Given the description of an element on the screen output the (x, y) to click on. 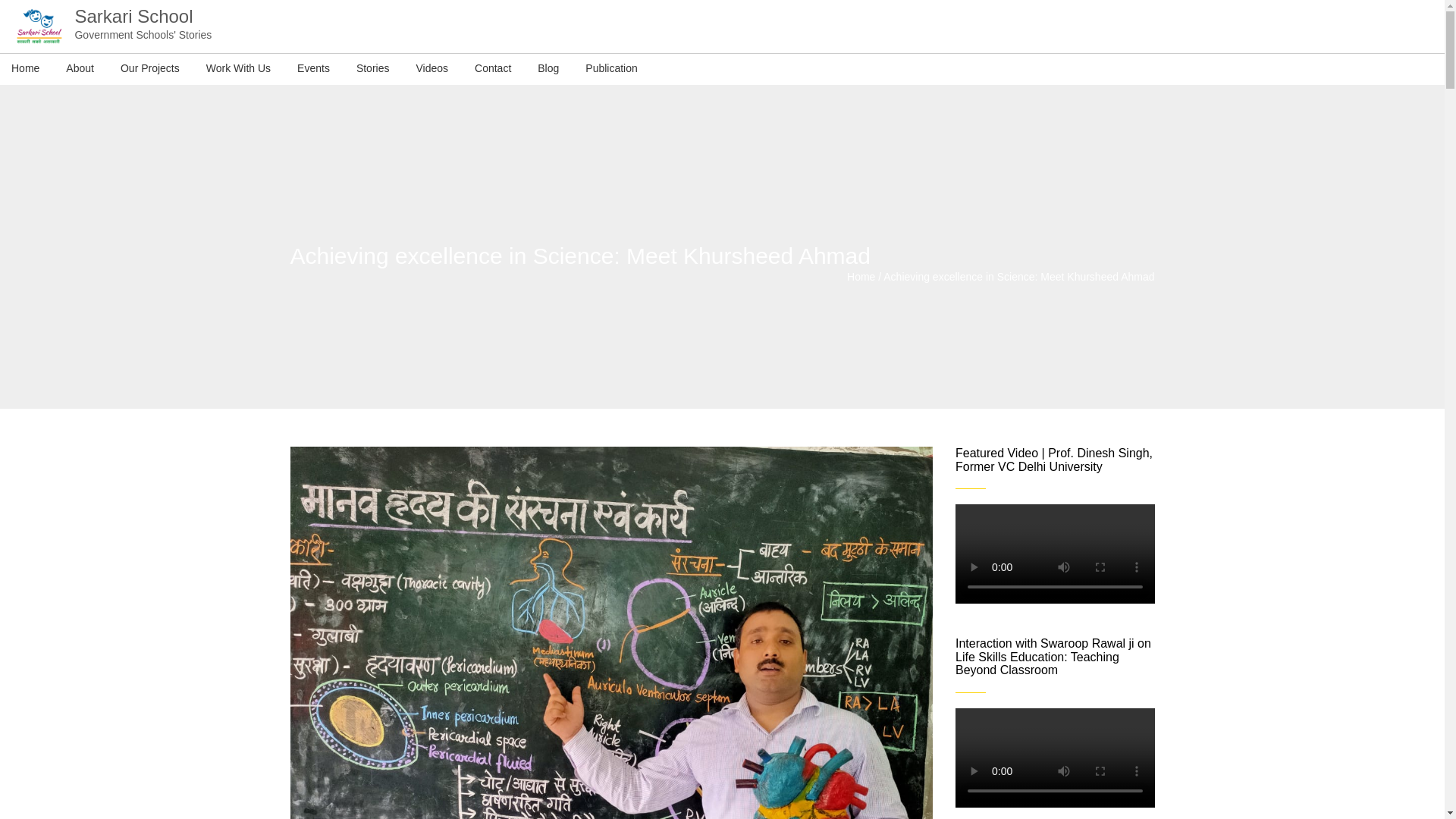
Our Projects (149, 69)
Contact (492, 69)
Stories (373, 69)
Sarkari School (861, 276)
Videos (431, 69)
Home (25, 69)
About (79, 69)
Events (313, 69)
Work With Us (238, 69)
Publication (611, 69)
